Given the description of an element on the screen output the (x, y) to click on. 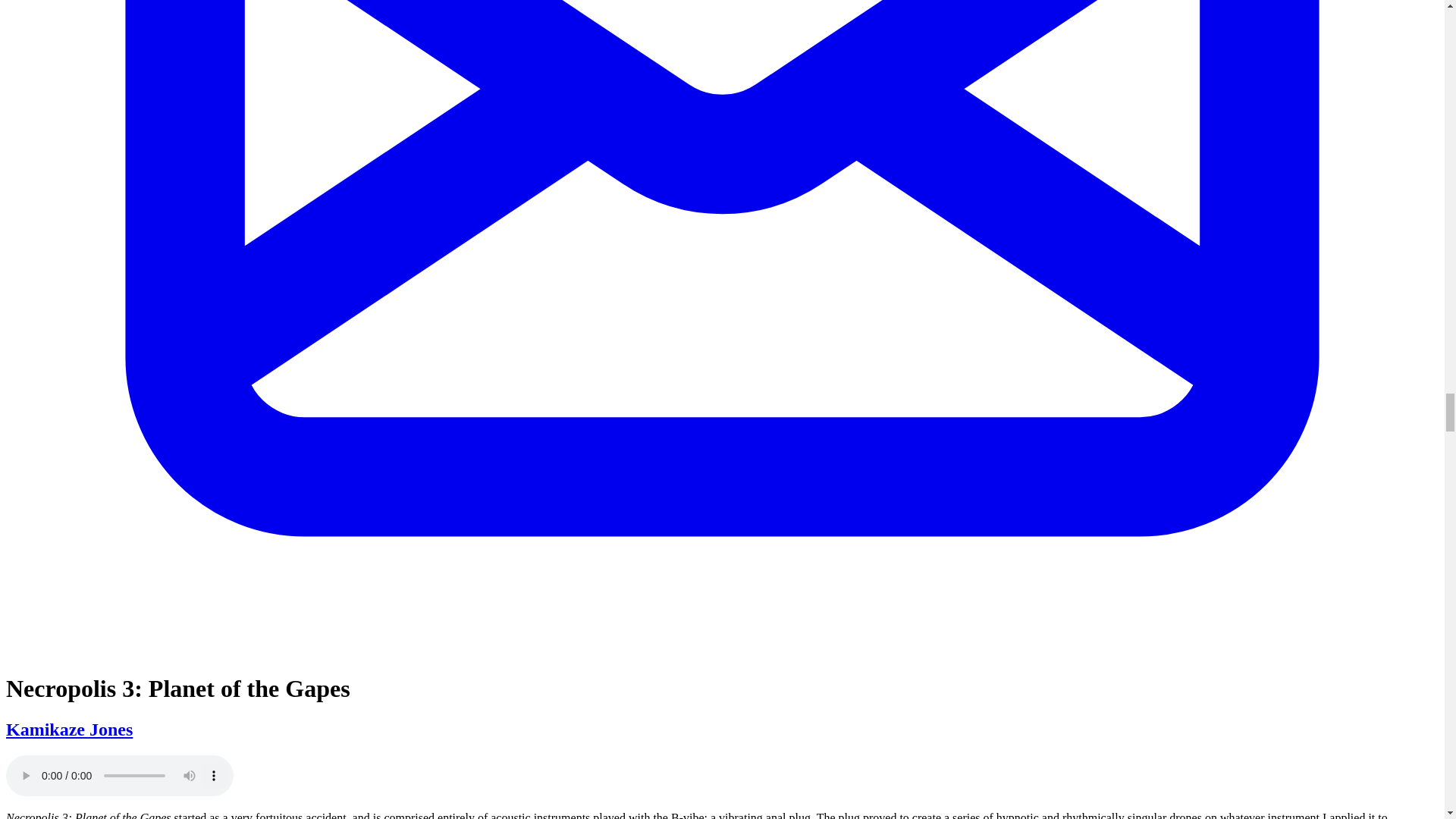
Kamikaze Jones (68, 729)
